Given the description of an element on the screen output the (x, y) to click on. 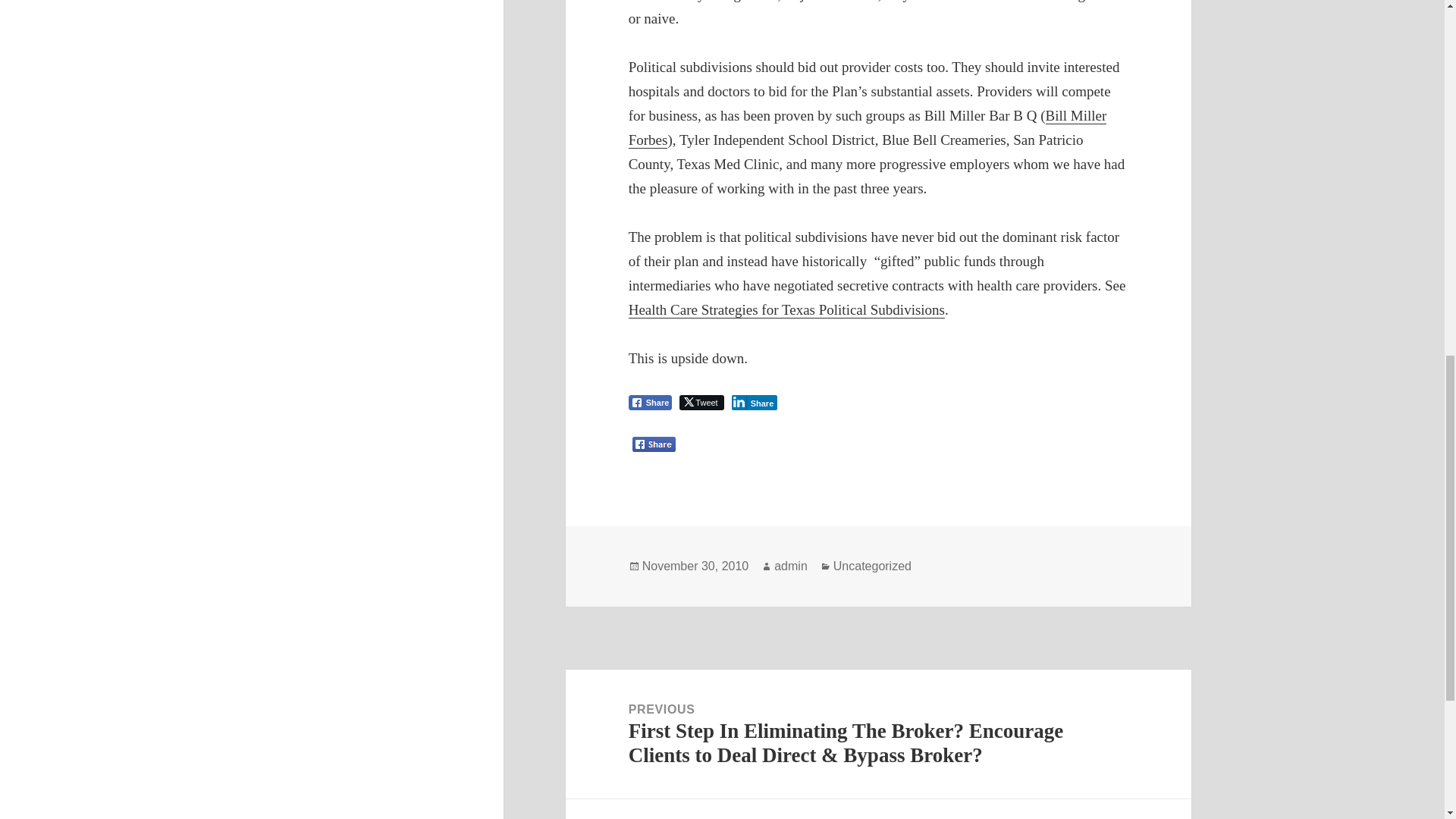
Share (650, 402)
Uncategorized (871, 566)
Tweet (701, 402)
November 30, 2010 (695, 566)
Bill Miller Forbes (867, 127)
admin (791, 566)
Share (754, 402)
Health Care Strategies for Texas Political Subdivisions (786, 310)
